Given the description of an element on the screen output the (x, y) to click on. 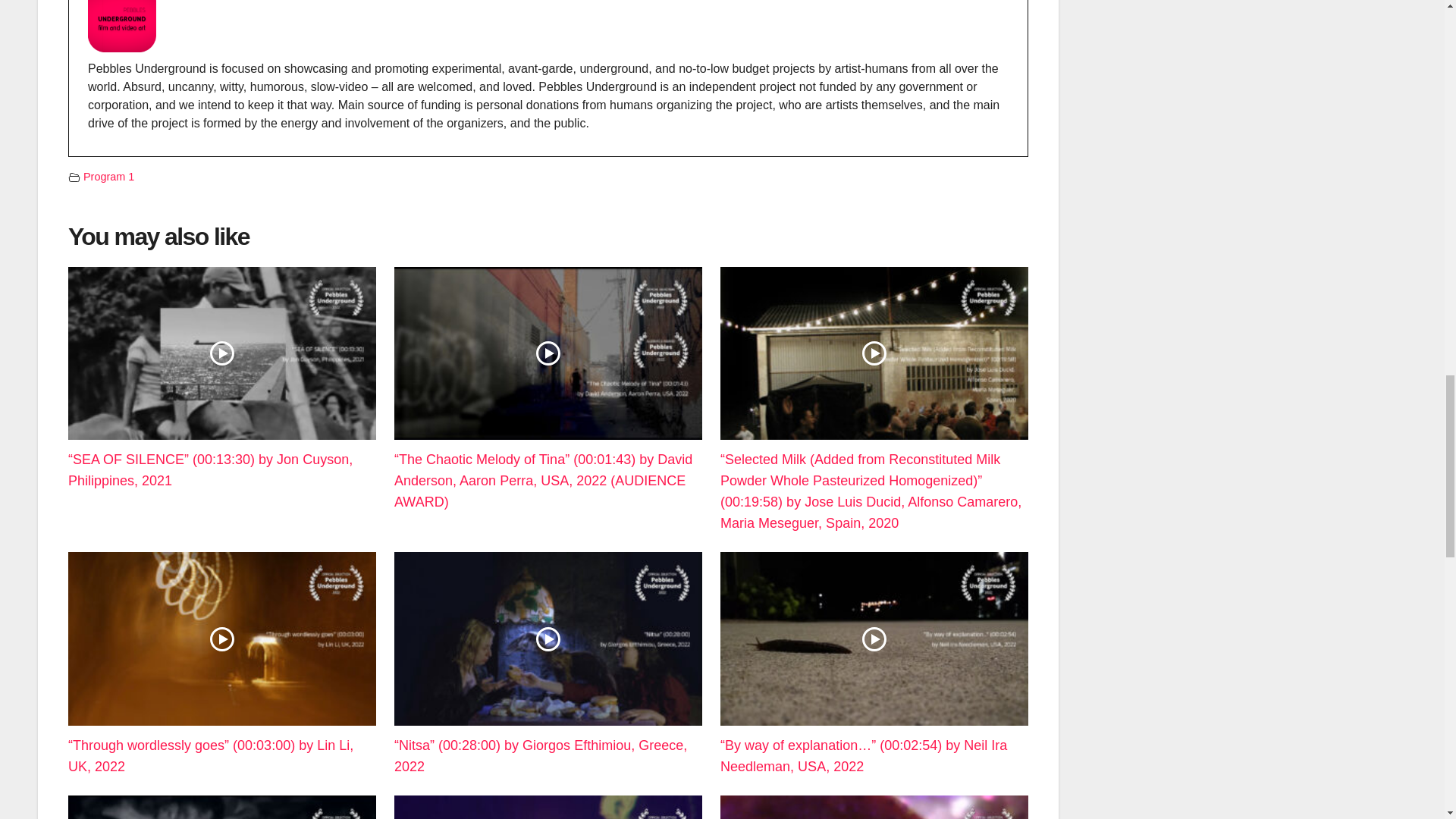
Program 1 (107, 176)
